Given the description of an element on the screen output the (x, y) to click on. 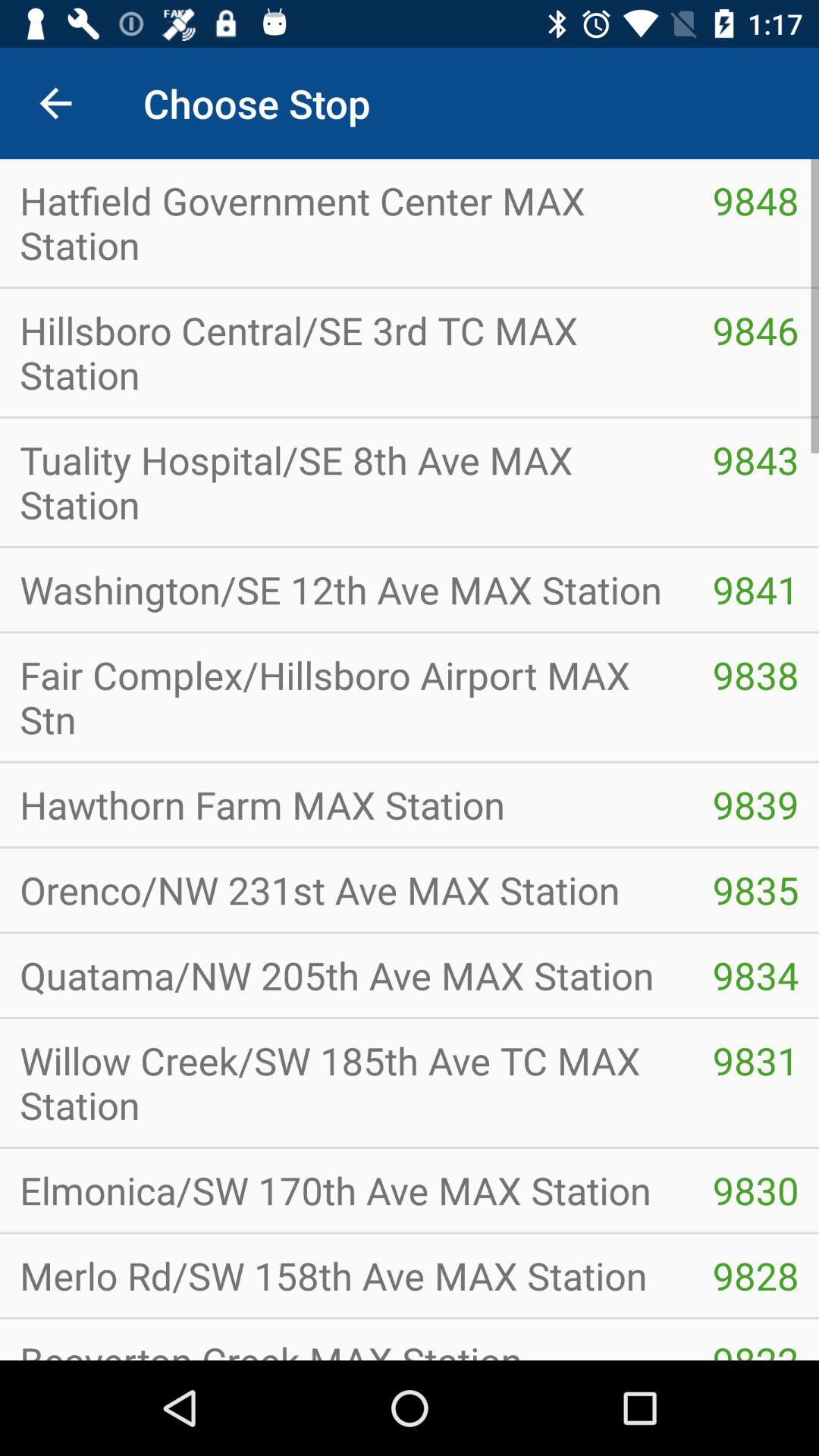
tap item below the willow creek sw icon (346, 1189)
